Given the description of an element on the screen output the (x, y) to click on. 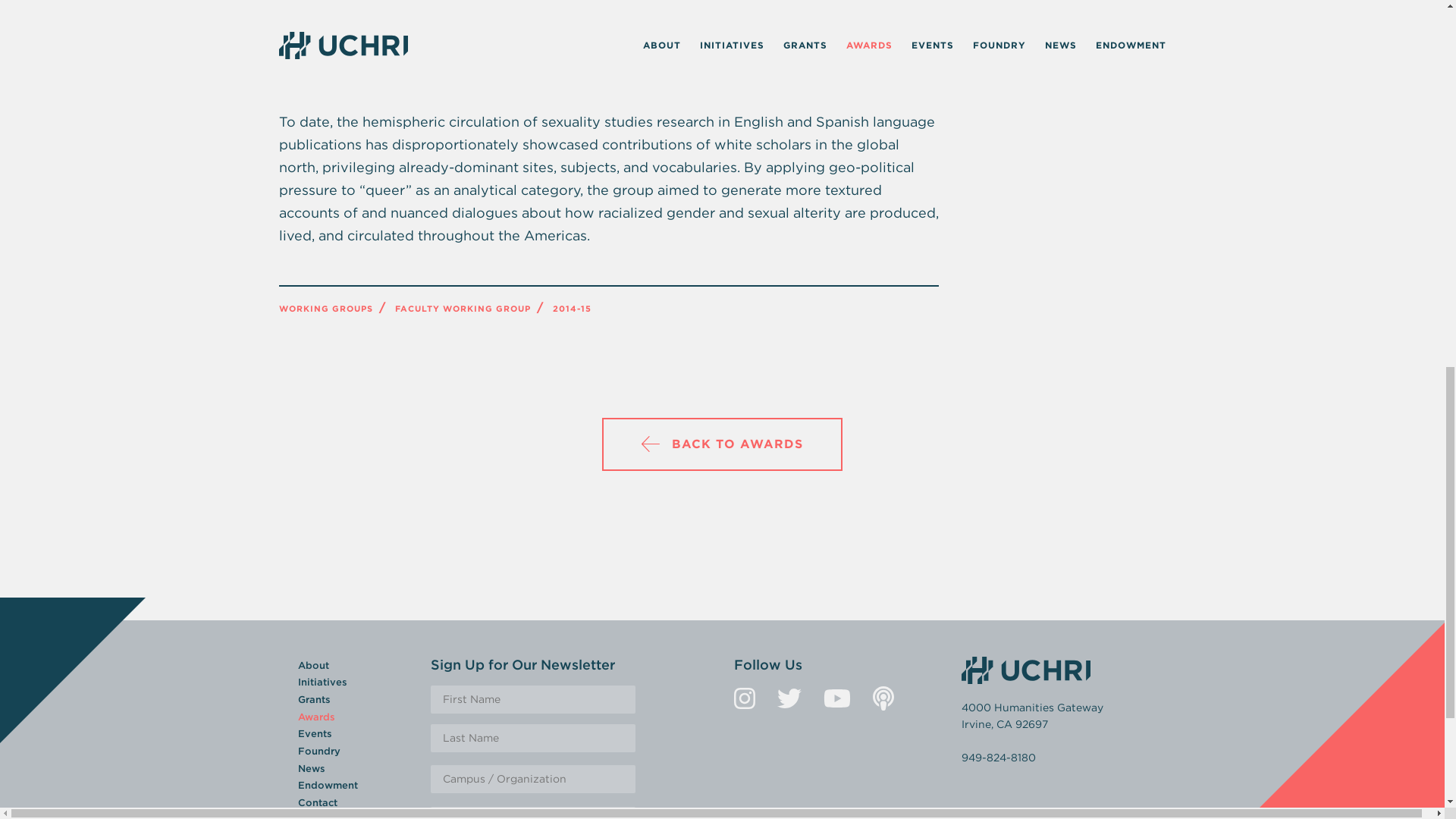
Grants (313, 699)
WORKING GROUPS (325, 308)
Events (314, 733)
Awards (315, 716)
About (313, 665)
Initiatives (321, 681)
BACK TO AWARDS (722, 443)
Foundry (318, 750)
News (310, 767)
2014-15 (571, 308)
